Given the description of an element on the screen output the (x, y) to click on. 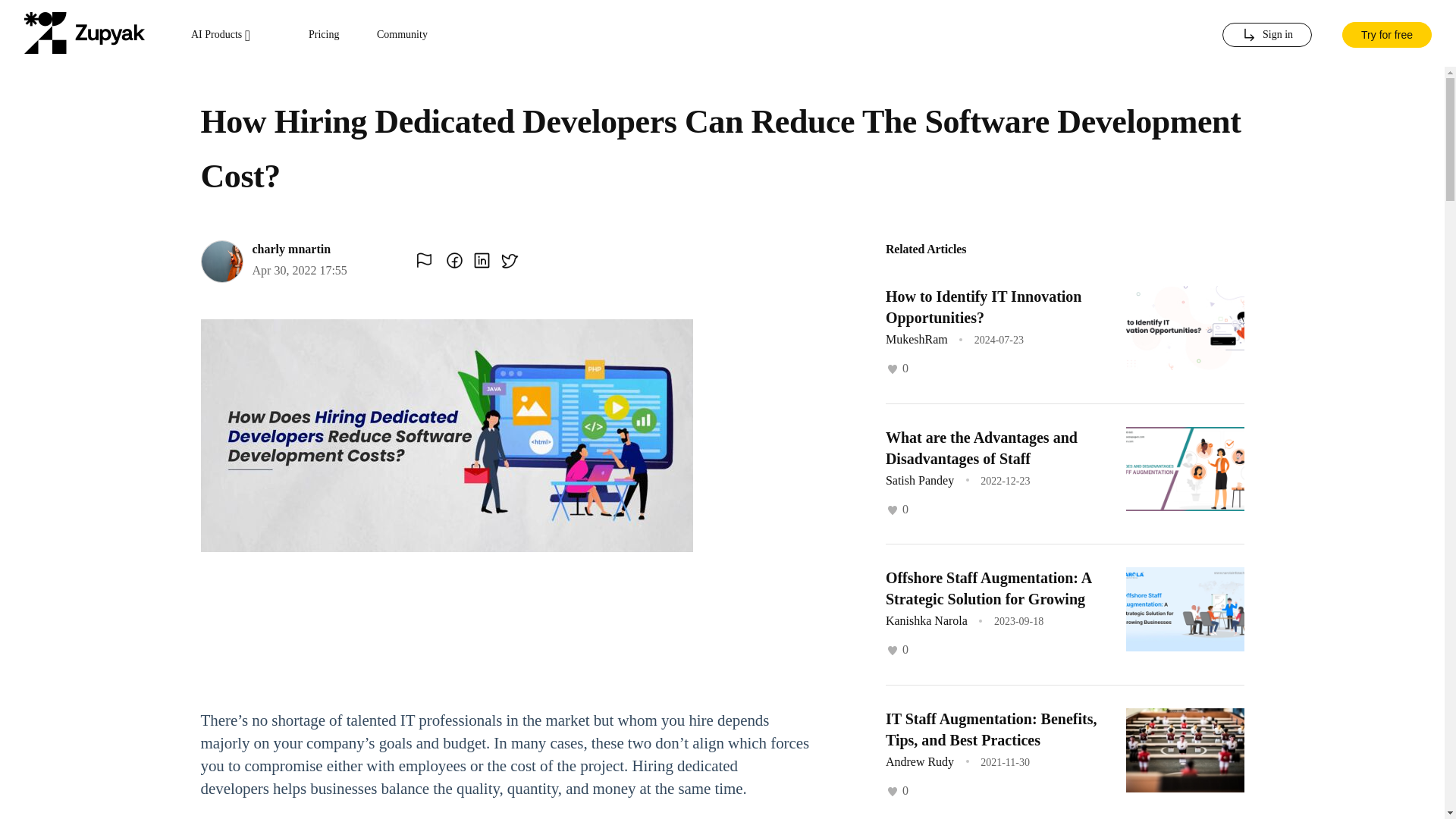
Pricing (323, 34)
Community (402, 34)
 Sign in (1267, 34)
Try for free (1386, 33)
IT Staff Augmentation: Benefits, Tips, and Best Practices (991, 728)
How to Identify IT Innovation Opportunities? (983, 306)
